Given the description of an element on the screen output the (x, y) to click on. 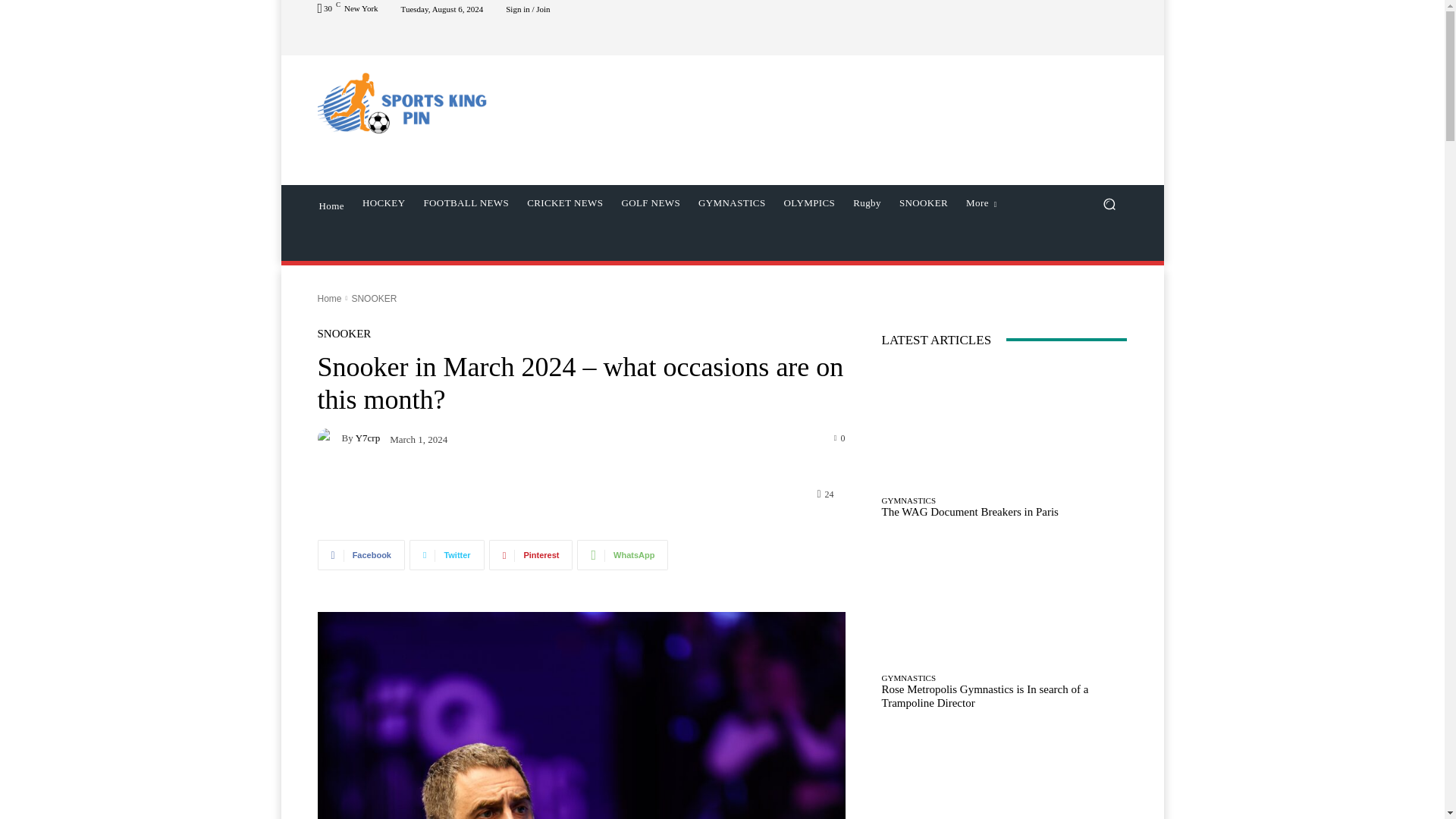
HOCKEY (383, 203)
WhatsApp (622, 554)
View all posts in SNOOKER (373, 297)
GOLF NEWS (649, 203)
y7crp (328, 437)
Pinterest (531, 554)
SNOOKER (922, 203)
Twitter (446, 554)
Rugby (866, 203)
GYMNASTICS (731, 203)
Facebook (360, 554)
OLYMPICS (809, 203)
CRICKET NEWS (564, 203)
Home (330, 204)
FOOTBALL NEWS (465, 203)
